Given the description of an element on the screen output the (x, y) to click on. 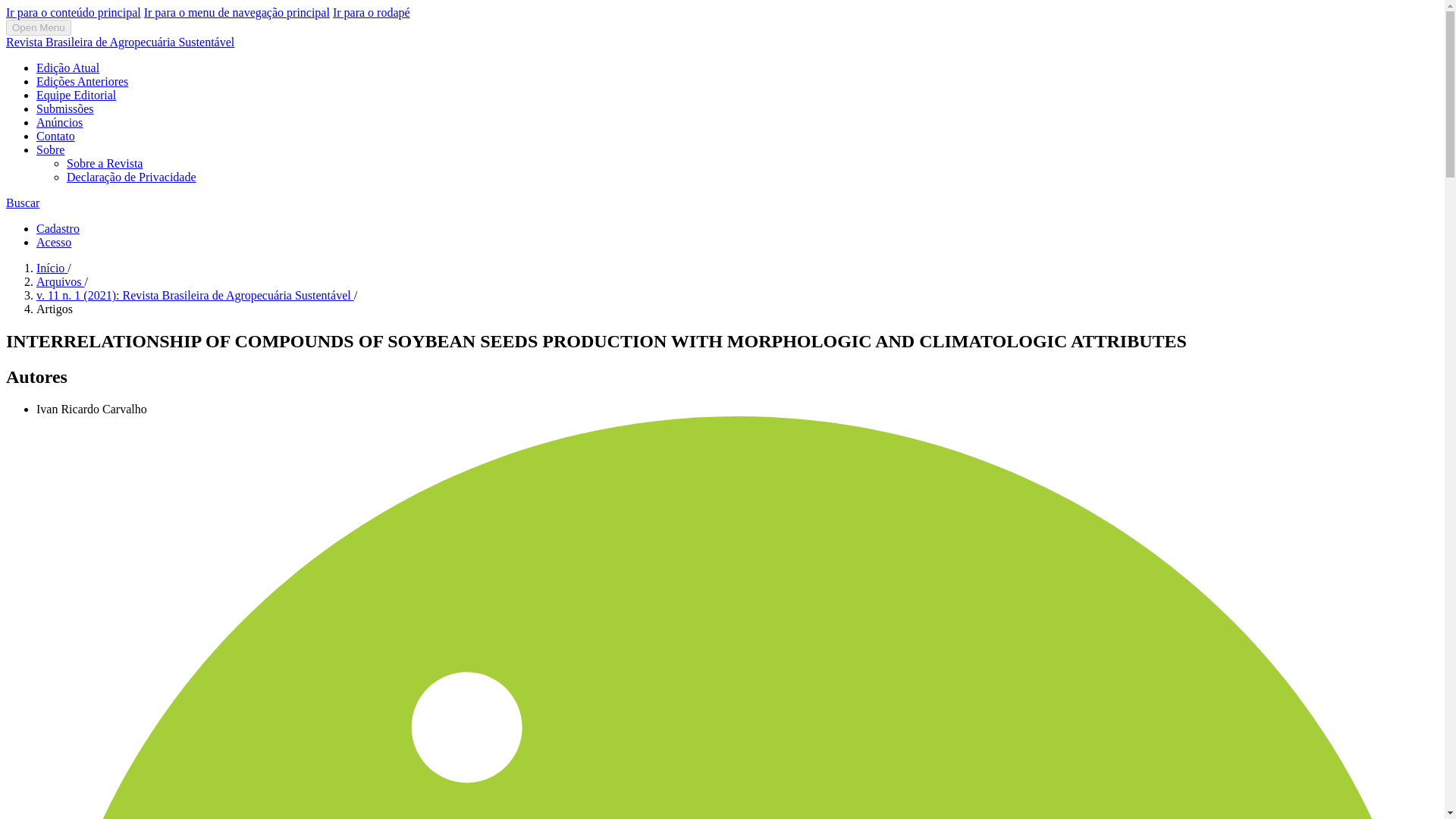
Acesso (53, 241)
Contato (55, 135)
Cadastro (58, 228)
Sobre (50, 149)
Sobre a Revista (104, 163)
Arquivos (60, 281)
Open Menu (38, 27)
Equipe Editorial (76, 94)
Buscar (22, 202)
